Given the description of an element on the screen output the (x, y) to click on. 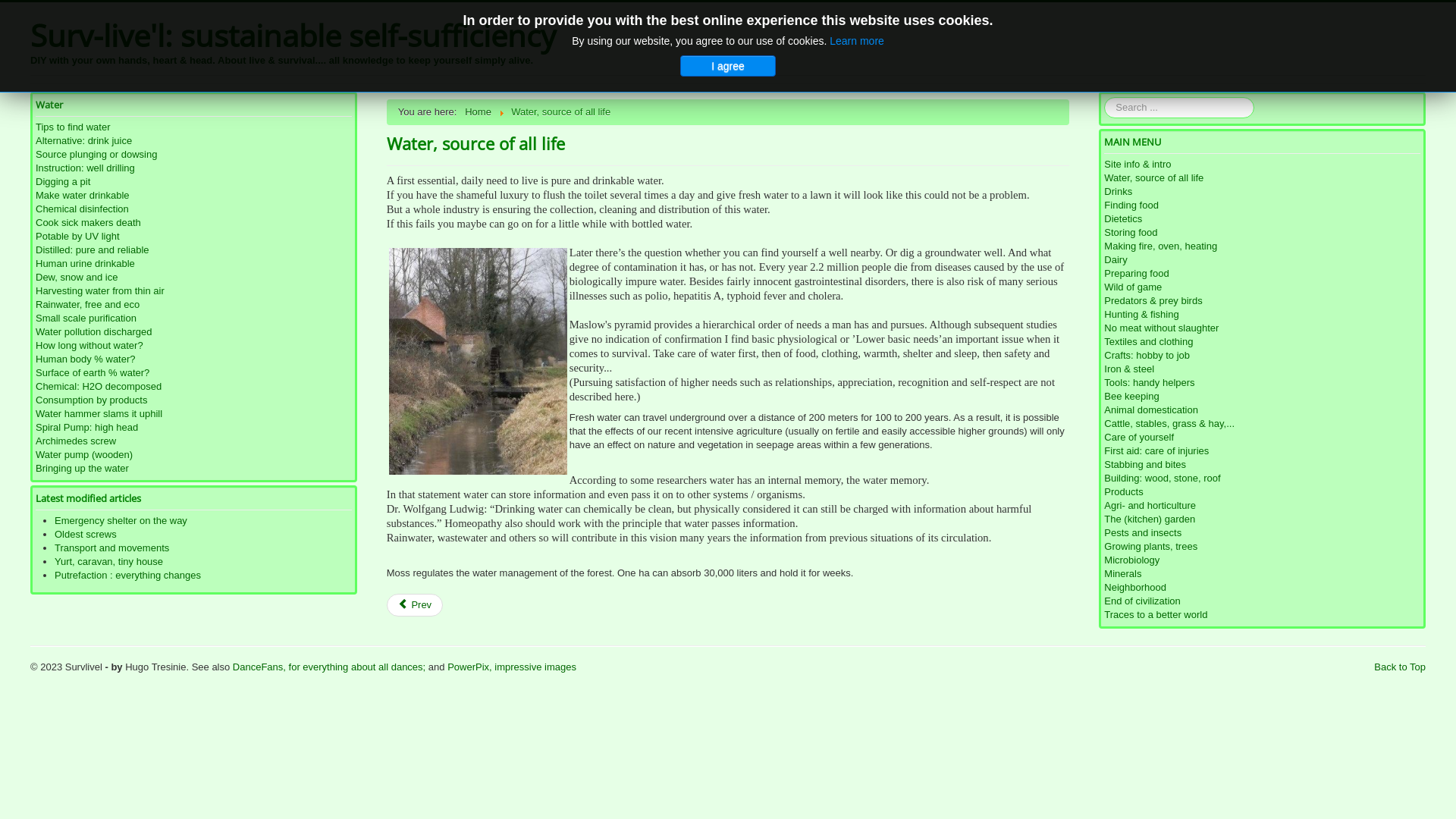
No meat without slaughter Element type: text (1262, 328)
First aid: care of injuries Element type: text (1262, 451)
Water hammer slams it uphill Element type: text (193, 413)
Iron & steel Element type: text (1262, 369)
Make water drinkable Element type: text (193, 195)
Emergency shelter on the way Element type: text (120, 520)
Archimedes screw Element type: text (193, 441)
Cook sick makers death Element type: text (193, 222)
Digging a pit Element type: text (193, 181)
Care of yourself Element type: text (1262, 437)
PowerPix, impressive images Element type: text (511, 666)
Water pump (wooden) Element type: text (193, 454)
Chemical disinfection Element type: text (193, 209)
Predators & prey birds Element type: text (1262, 300)
Surface of earth % water? Element type: text (193, 372)
Human body % water? Element type: text (193, 359)
Human urine drinkable Element type: text (193, 263)
Dairy Element type: text (1262, 259)
Hunting & fishing Element type: text (1262, 314)
DanceFans, for everything about all dances; Element type: text (328, 666)
How long without water? Element type: text (193, 345)
Consumption by products Element type: text (193, 400)
Distilled: pure and reliable Element type: text (193, 250)
Dew, snow and ice Element type: text (193, 277)
Transport and movements Element type: text (111, 547)
Textiles and clothing Element type: text (1262, 341)
Potable by UV light Element type: text (193, 236)
Back to Top Element type: text (1399, 666)
Making fire, oven, heating Element type: text (1262, 246)
Instruction: well drilling Element type: text (193, 168)
Microbiology Element type: text (1262, 560)
End of civilization Element type: text (1262, 601)
Finding food Element type: text (1262, 205)
Learn more Element type: text (856, 40)
Rainwater, free and eco Element type: text (193, 304)
Bringing up the water Element type: text (193, 468)
Site info & intro Element type: text (1262, 164)
Yurt, caravan, tiny house Element type: text (108, 561)
Dietetics Element type: text (1262, 218)
Traces to a better world Element type: text (1262, 614)
Water, source of all life Element type: text (1262, 178)
Oldest screws Element type: text (85, 533)
Tools: handy helpers Element type: text (1262, 382)
Growing plants, trees Element type: text (1262, 546)
Drinks Element type: text (1262, 191)
Water pollution discharged Element type: text (193, 331)
Building: wood, stone, roof Element type: text (1262, 478)
Animal domestication Element type: text (1262, 410)
Pests and insects Element type: text (1262, 532)
Alternative: drink juice Element type: text (193, 140)
Source plunging or dowsing Element type: text (193, 154)
Chemical: H2O decomposed Element type: text (193, 386)
Products Element type: text (1262, 491)
Preparing food Element type: text (1262, 273)
Agri- and horticulture Element type: text (1262, 505)
Harvesting water from thin air Element type: text (193, 291)
Bee keeping Element type: text (1262, 396)
Prev Element type: text (414, 604)
The (kitchen) garden Element type: text (1262, 519)
Putrefaction : everything changes Element type: text (127, 574)
Small scale purification Element type: text (193, 318)
Tips to find water Element type: text (193, 127)
Crafts: hobby to job Element type: text (1262, 355)
Stabbing and bites Element type: text (1262, 464)
Minerals Element type: text (1262, 573)
Storing food Element type: text (1262, 232)
Cattle, stables, grass & hay,... Element type: text (1262, 423)
Neighborhood Element type: text (1262, 587)
Wild of game Element type: text (1262, 287)
Home Element type: text (477, 111)
Spiral Pump: high head Element type: text (193, 427)
